Given the description of an element on the screen output the (x, y) to click on. 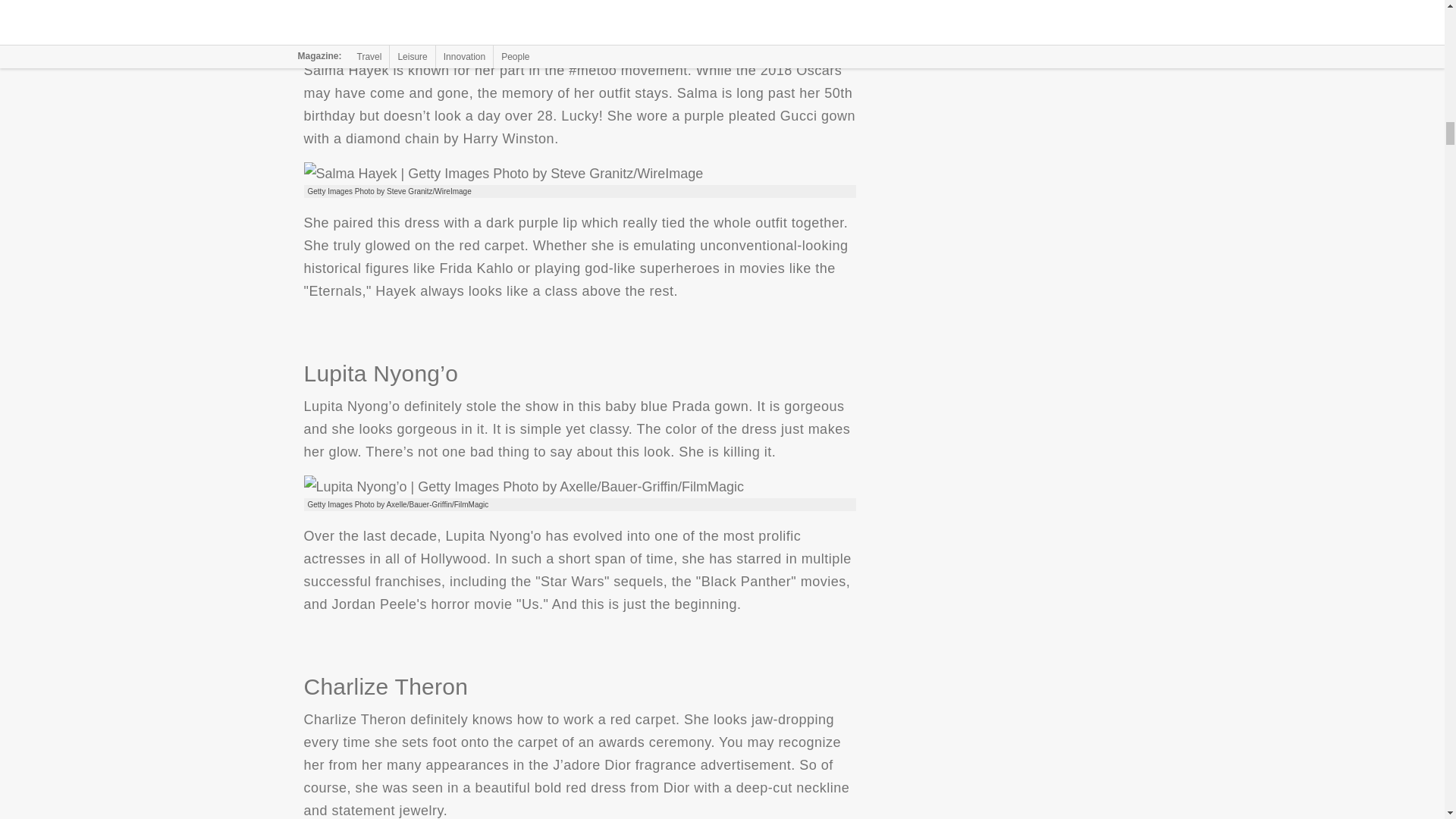
Salma Hayek (502, 173)
